Given the description of an element on the screen output the (x, y) to click on. 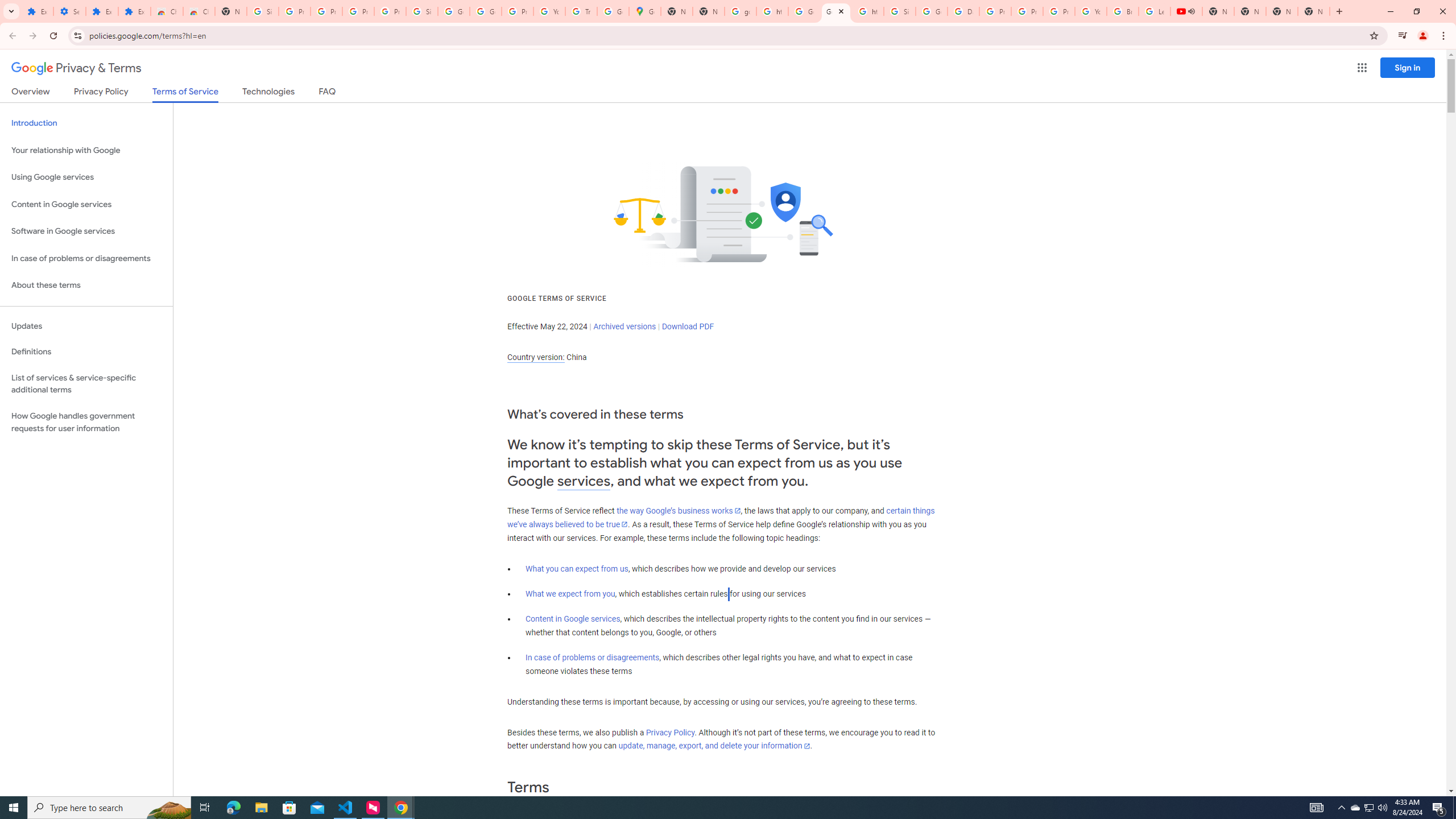
Settings (69, 11)
https://scholar.google.com/ (868, 11)
List of services & service-specific additional terms (86, 383)
Sign in - Google Accounts (421, 11)
FAQ (327, 93)
Sign in (1407, 67)
Sign in - Google Accounts (899, 11)
Privacy Policy (669, 732)
